Given the description of an element on the screen output the (x, y) to click on. 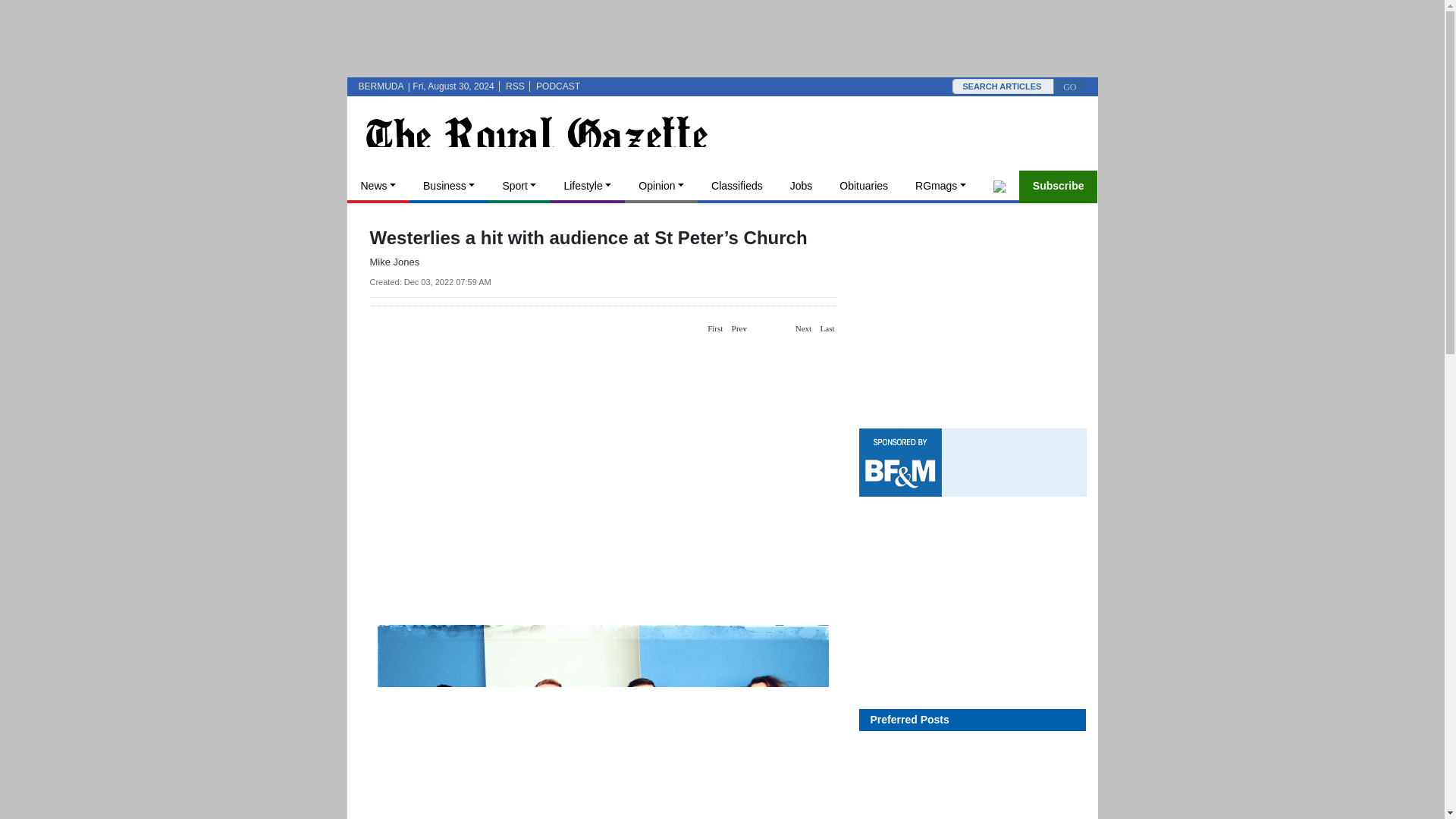
GO (1069, 86)
GO (1069, 86)
RSS (514, 86)
PODCAST (557, 86)
